Given the description of an element on the screen output the (x, y) to click on. 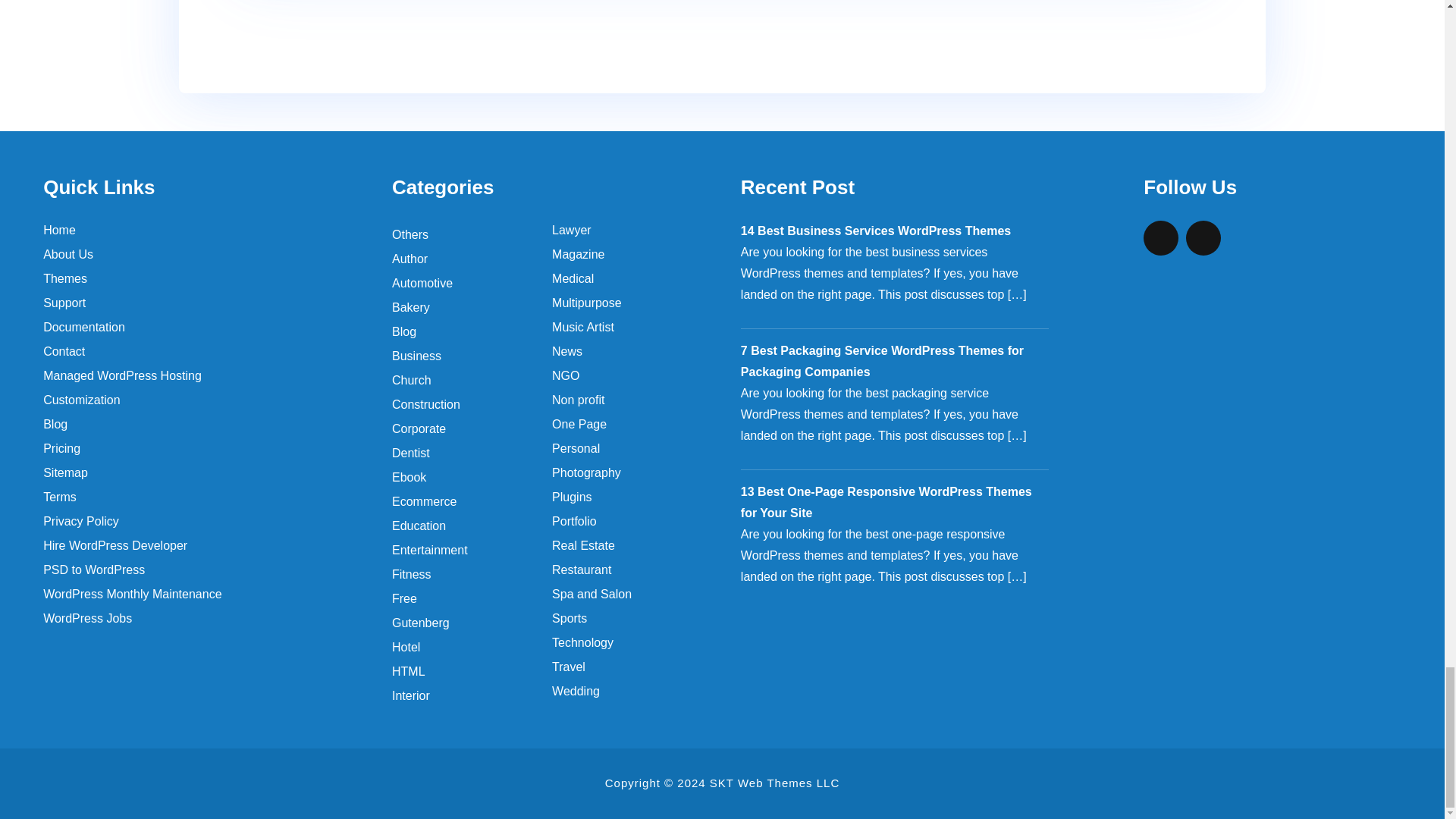
Support (196, 302)
About Us (196, 254)
Themes (196, 279)
Documentation (196, 327)
Home (196, 230)
